Given the description of an element on the screen output the (x, y) to click on. 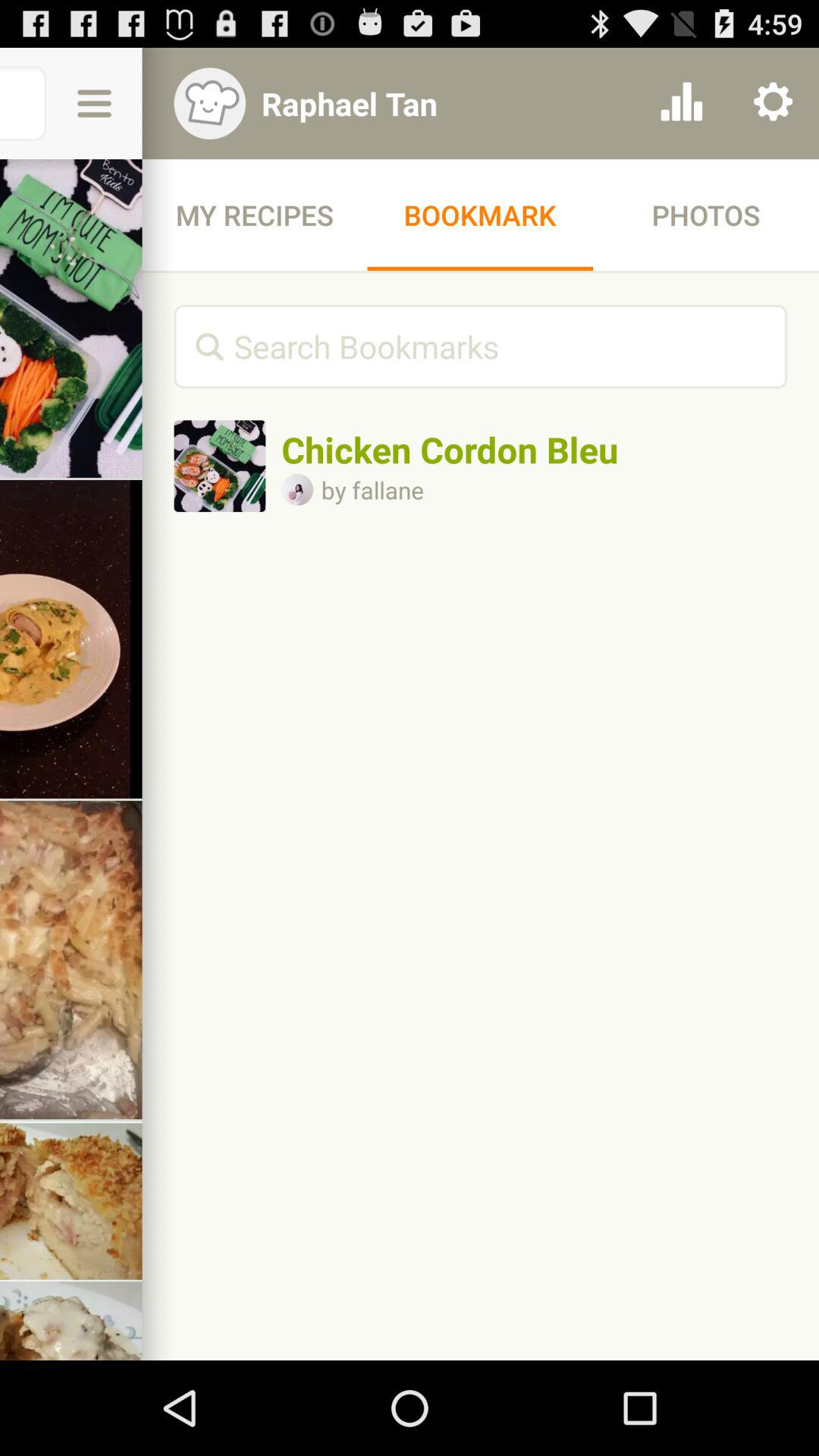
tap the item to the right of raphael tan (681, 103)
